Given the description of an element on the screen output the (x, y) to click on. 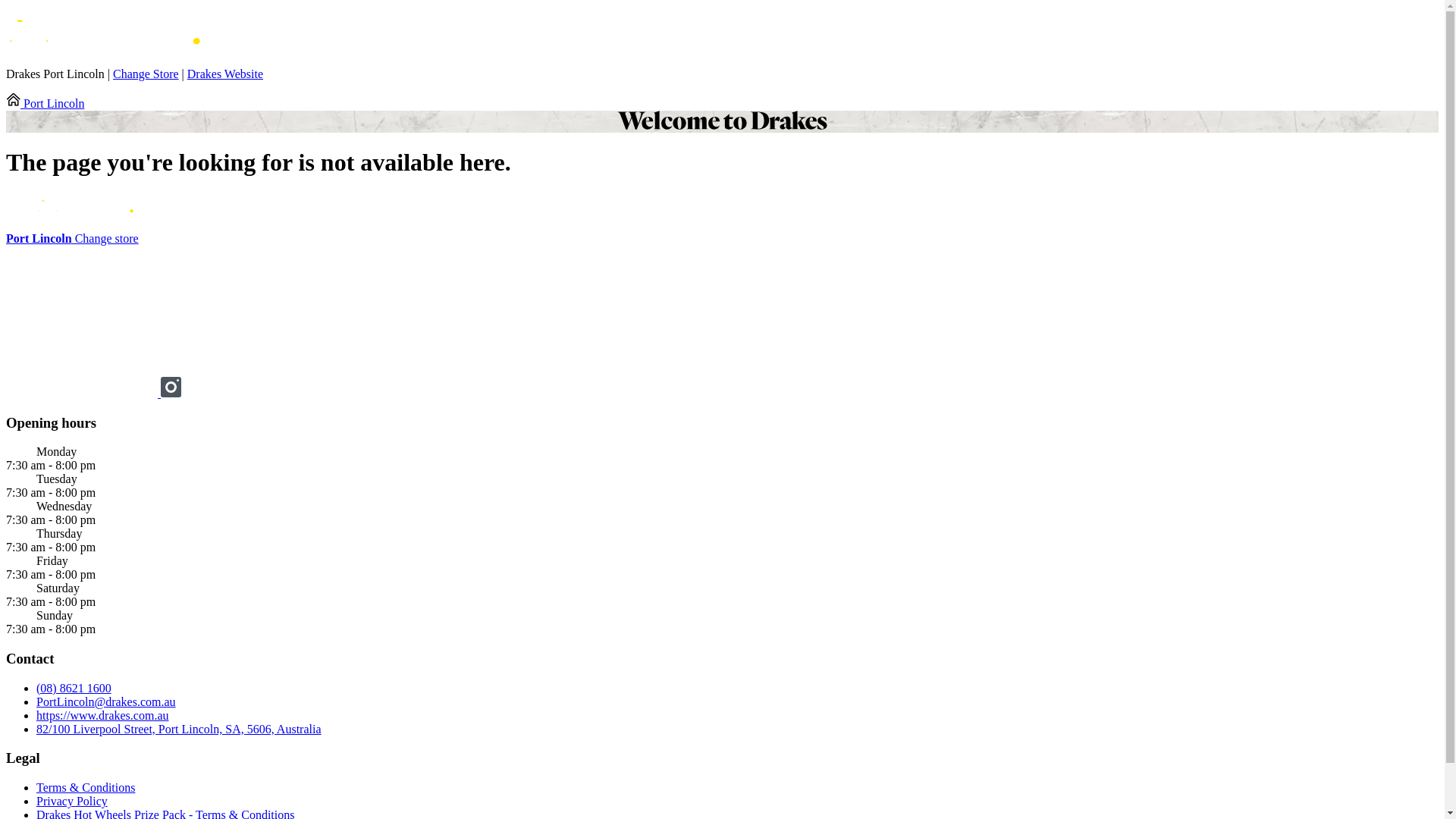
Privacy Policy Element type: text (71, 800)
82/100 Liverpool Street, Port Lincoln, SA, 5606, Australia Element type: text (178, 728)
Drakes Website Element type: text (225, 73)
Port Lincoln Element type: text (45, 103)
Facebook Element type: hover (83, 392)
(08) 8621 1600 Element type: text (73, 687)
Change Store Element type: text (145, 73)
PortLincoln@drakes.com.au Element type: text (105, 701)
Port Lincoln Change store Element type: text (72, 238)
https://www.drakes.com.au Element type: text (102, 715)
Terms & Conditions Element type: text (85, 787)
Instagram drakessupermarkets Element type: hover (170, 392)
